Given the description of an element on the screen output the (x, y) to click on. 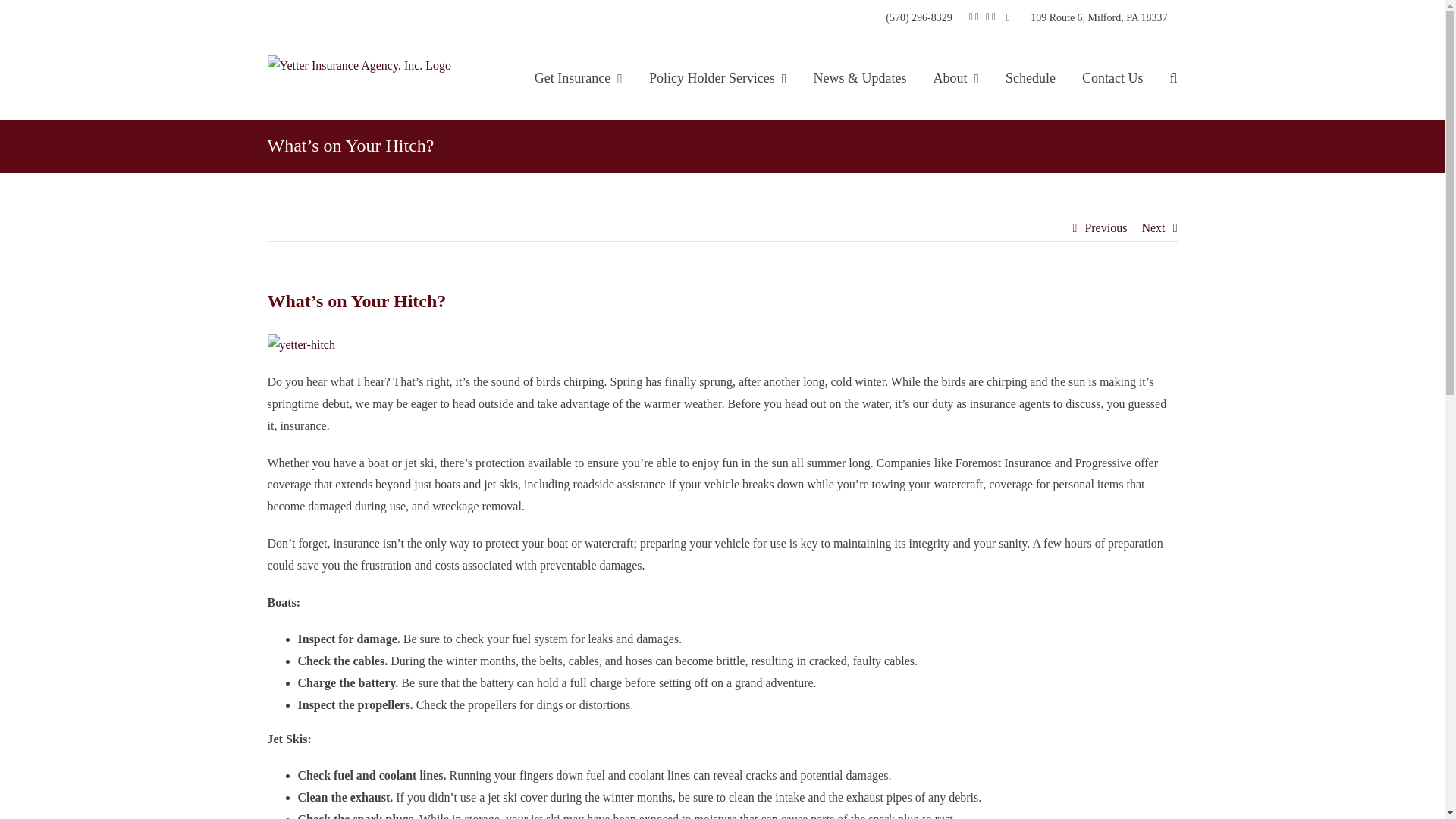
109 Route 6, Milford, PA 18337 (1098, 18)
Get Insurance (578, 77)
Previous (1105, 227)
Next (1152, 227)
Policy Holder Services (718, 77)
